Given the description of an element on the screen output the (x, y) to click on. 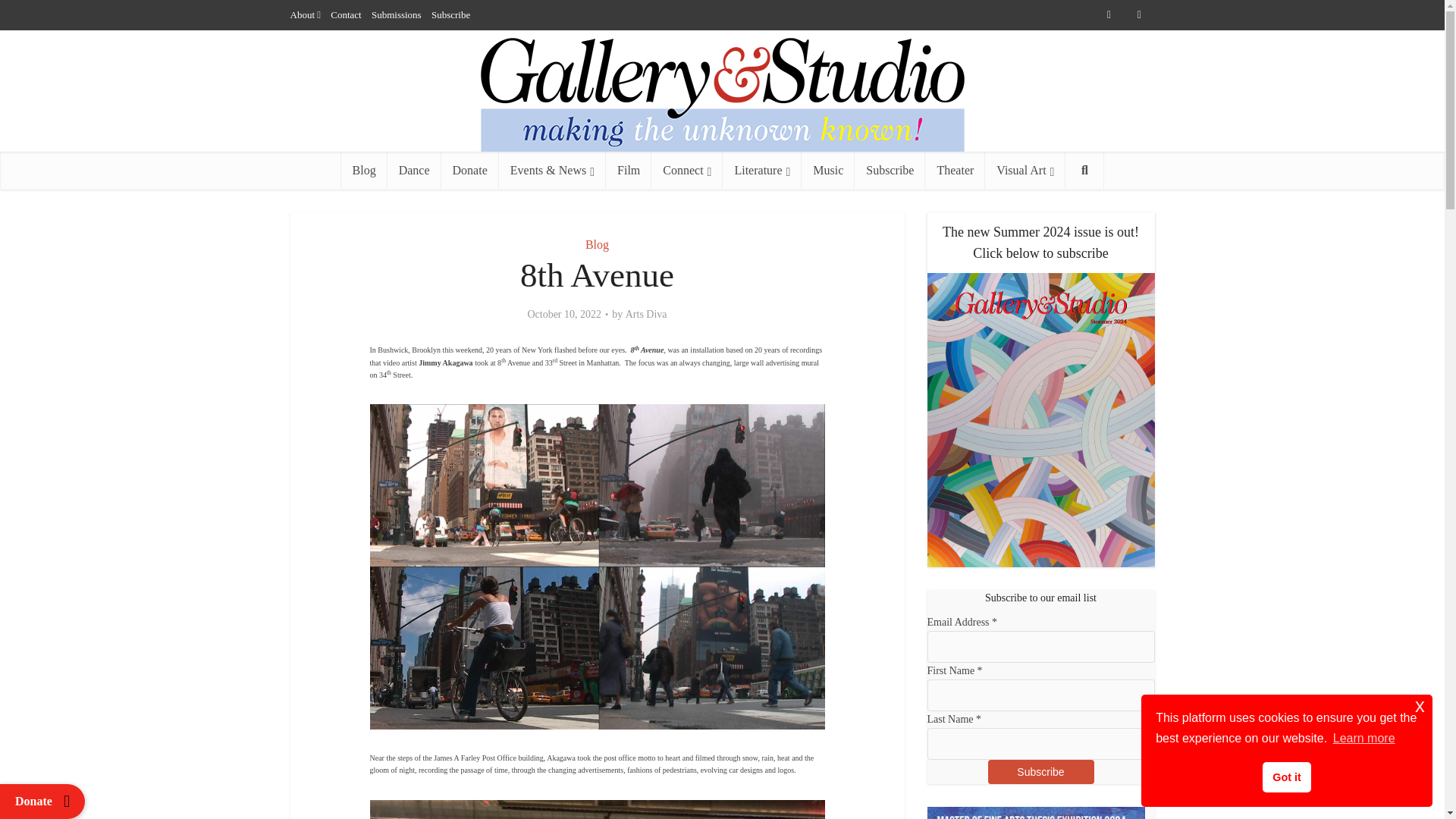
Subscribe (450, 14)
Submissions (396, 14)
Music (828, 170)
Subscribe (889, 170)
Contact (345, 14)
Blog (596, 244)
Subscribe (1040, 771)
Connect (686, 170)
Literature (762, 170)
Blog (363, 170)
About (301, 14)
Donate (470, 170)
Visual Art (1025, 170)
Dance (414, 170)
Film (627, 170)
